Given the description of an element on the screen output the (x, y) to click on. 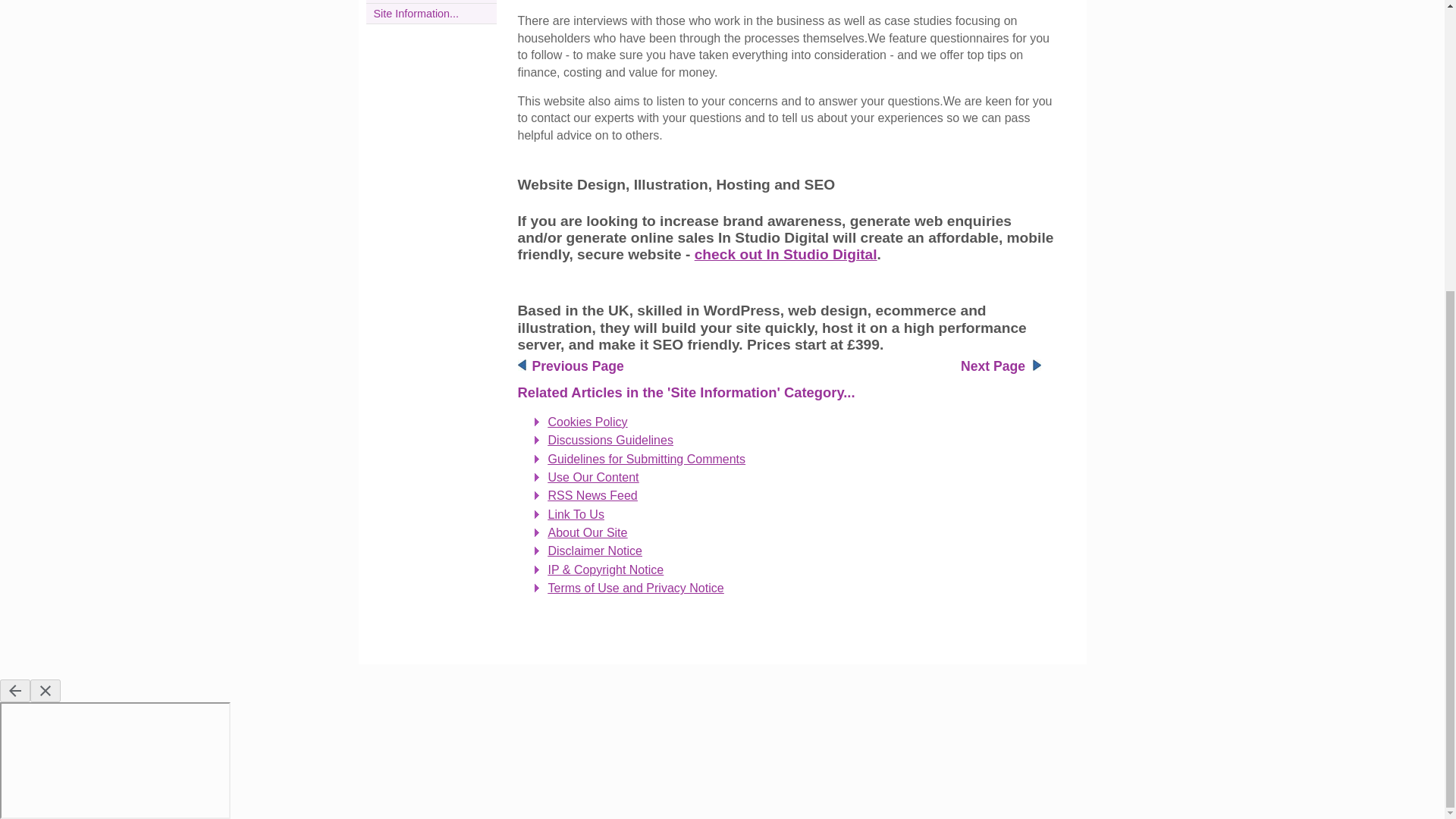
Terms of Use and Privacy Notice (635, 587)
Site Information... (415, 13)
Link To Us (575, 513)
Use Our Content (593, 477)
Guidelines for Submitting Comments (646, 459)
Cookies Policy (587, 421)
About Our Site (587, 532)
Previous Page (578, 365)
Next Page (992, 365)
Discussions Guidelines (609, 440)
check out In Studio Digital (785, 254)
RSS News Feed (592, 495)
Disclaimer Notice (594, 550)
